Given the description of an element on the screen output the (x, y) to click on. 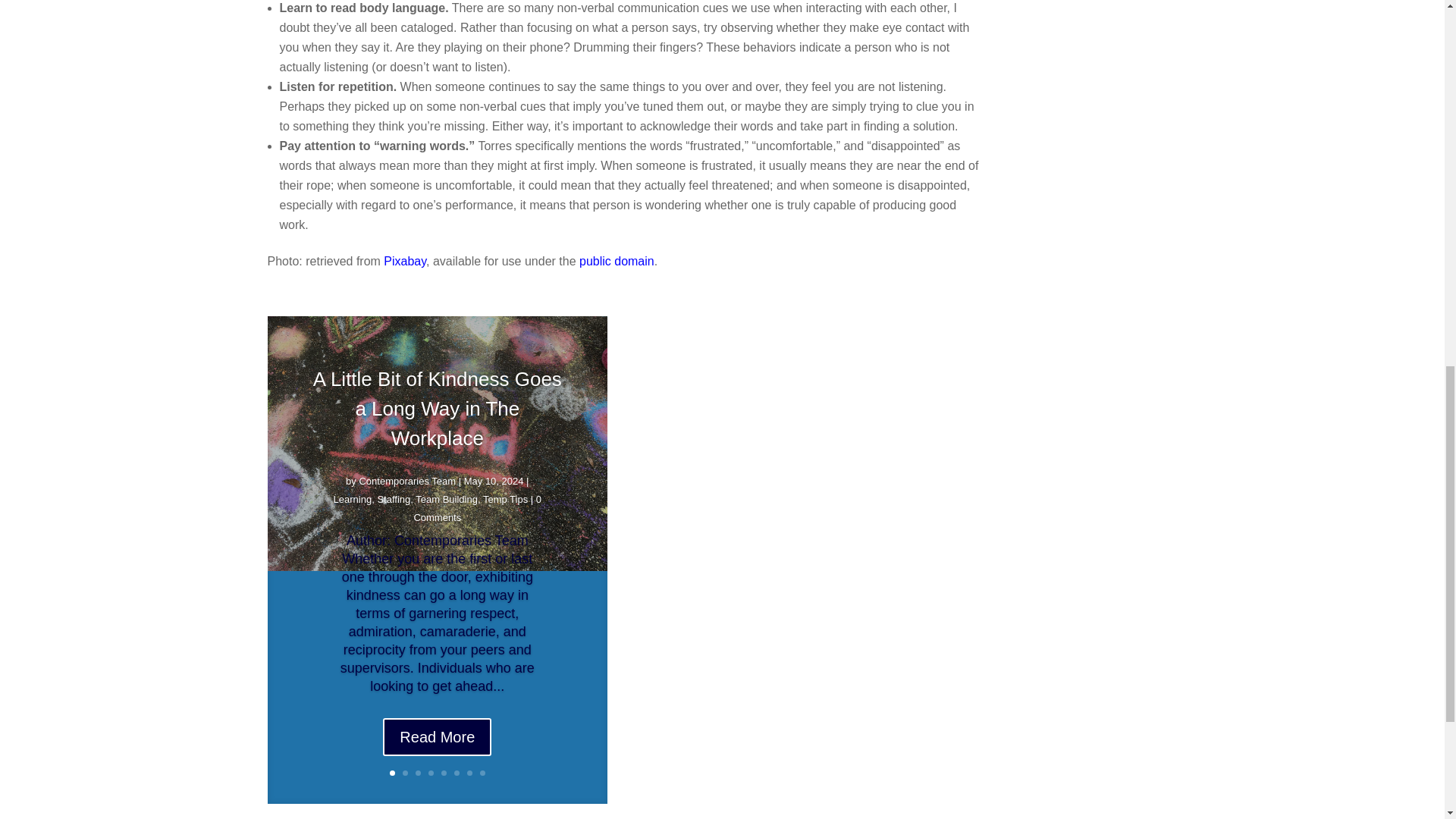
Posts by Contemporaries Team (406, 493)
